Given the description of an element on the screen output the (x, y) to click on. 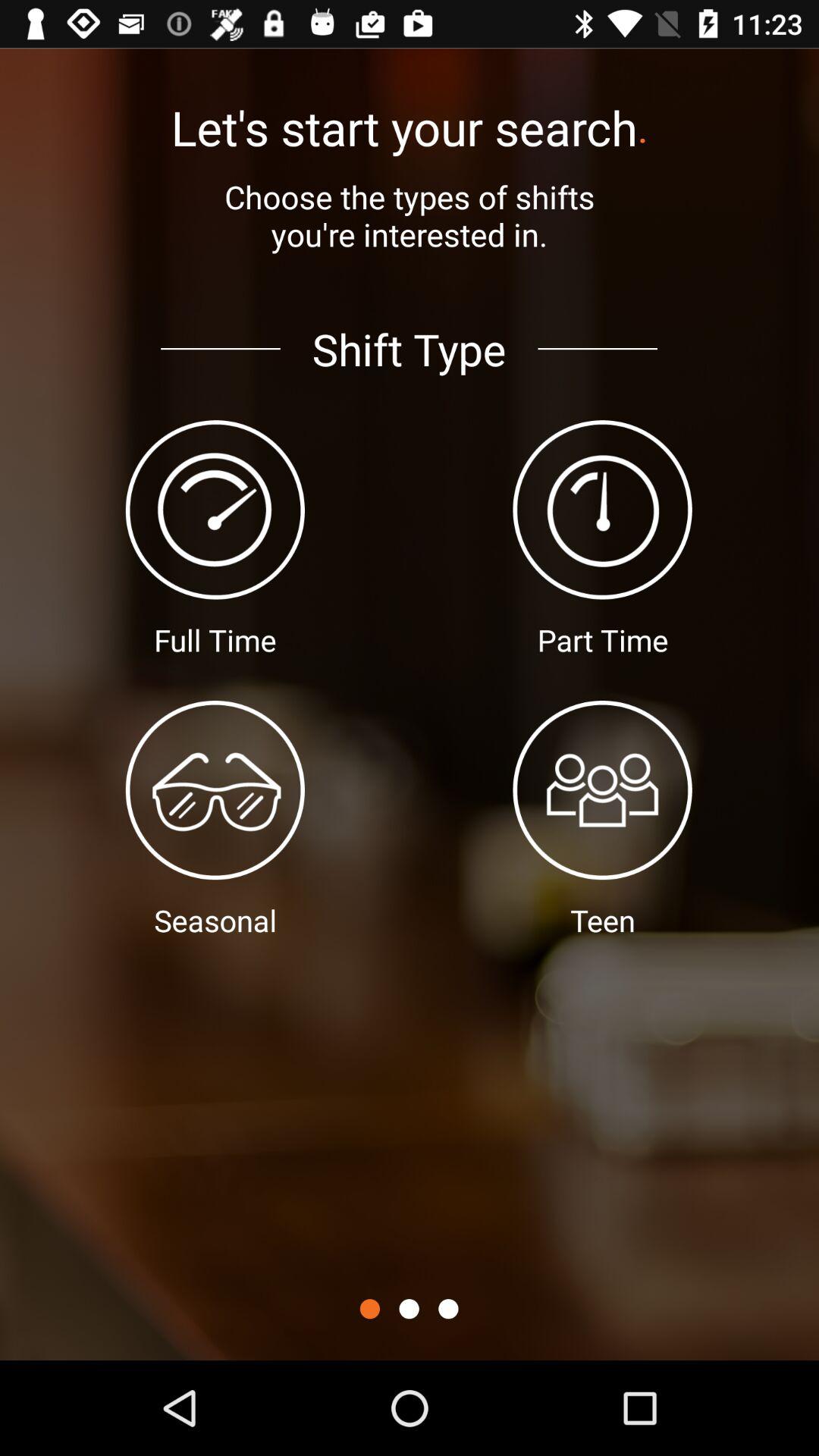
click the item below the shift type (448, 1308)
